Given the description of an element on the screen output the (x, y) to click on. 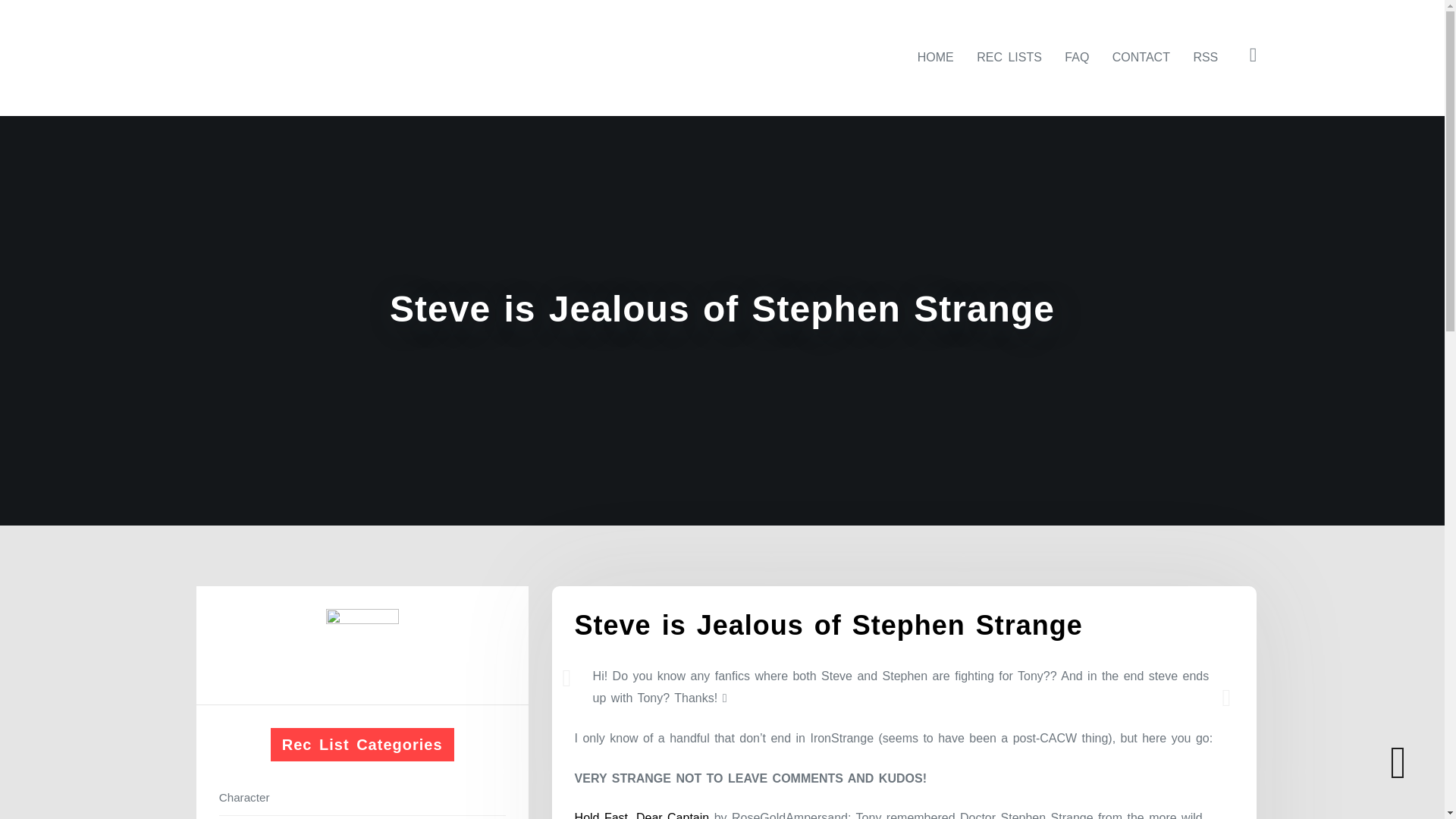
FAQ (1076, 57)
REC LISTS (1009, 57)
CONTACT (1141, 57)
HOME (935, 57)
Character (362, 797)
RSS (1205, 57)
Hold Fast, Dear Captain (642, 815)
